Given the description of an element on the screen output the (x, y) to click on. 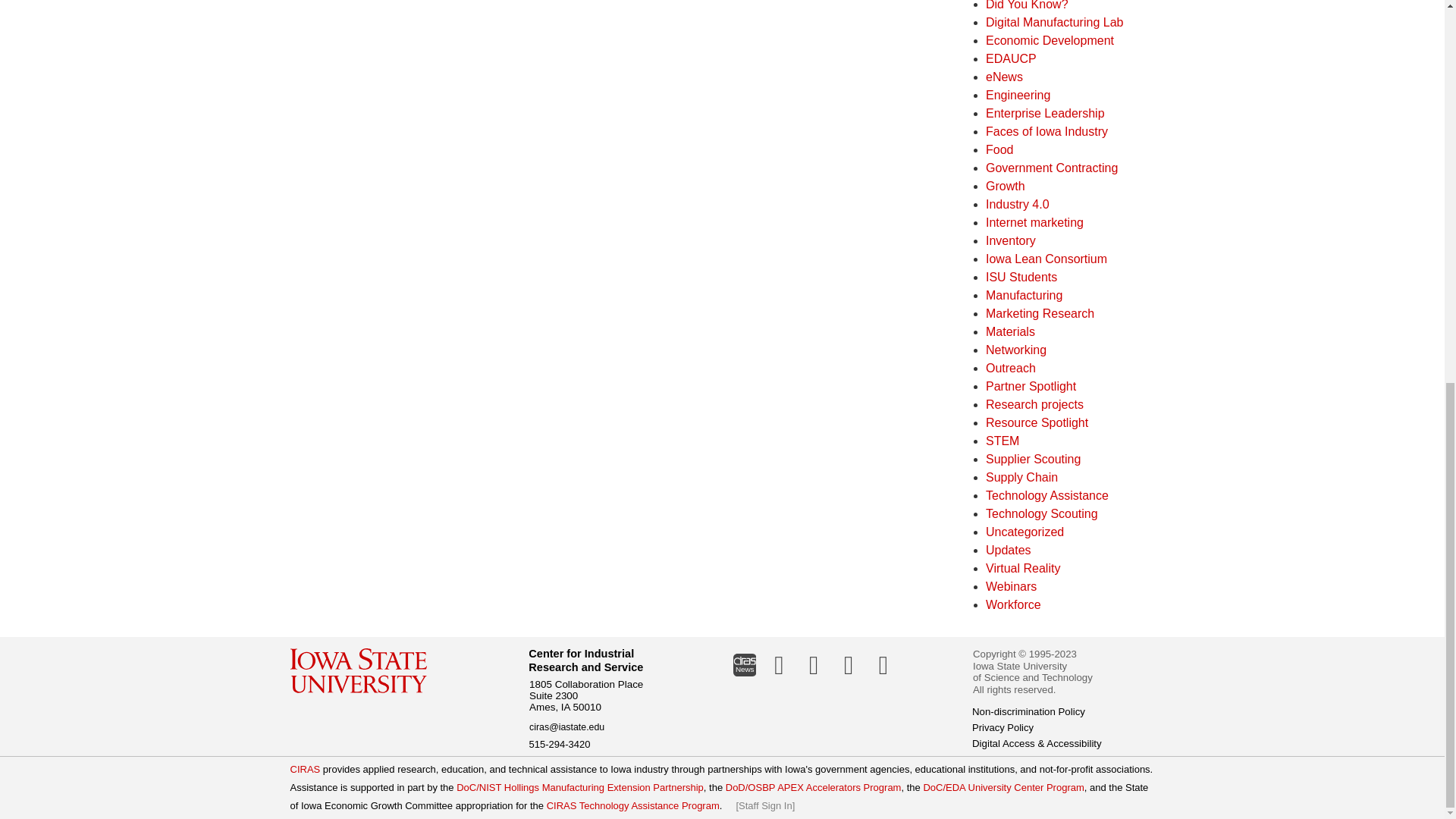
YouTube (883, 664)
Twitter (813, 664)
LinkedIn (778, 664)
CIRAS News (744, 664)
Facebook (848, 664)
